Given the description of an element on the screen output the (x, y) to click on. 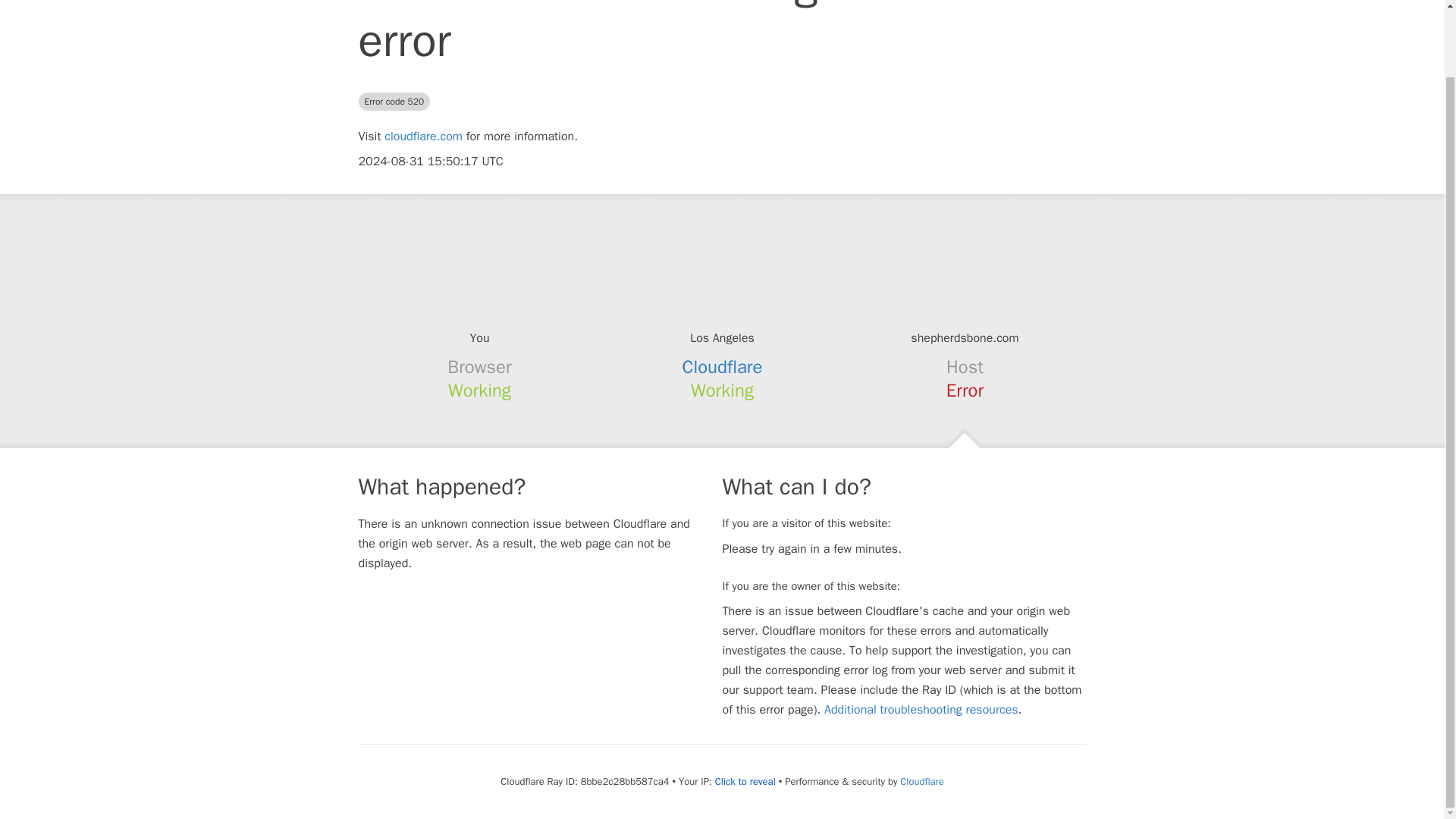
Click to reveal (745, 781)
Additional troubleshooting resources (920, 709)
Cloudflare (921, 780)
cloudflare.com (423, 136)
Cloudflare (722, 366)
